Given the description of an element on the screen output the (x, y) to click on. 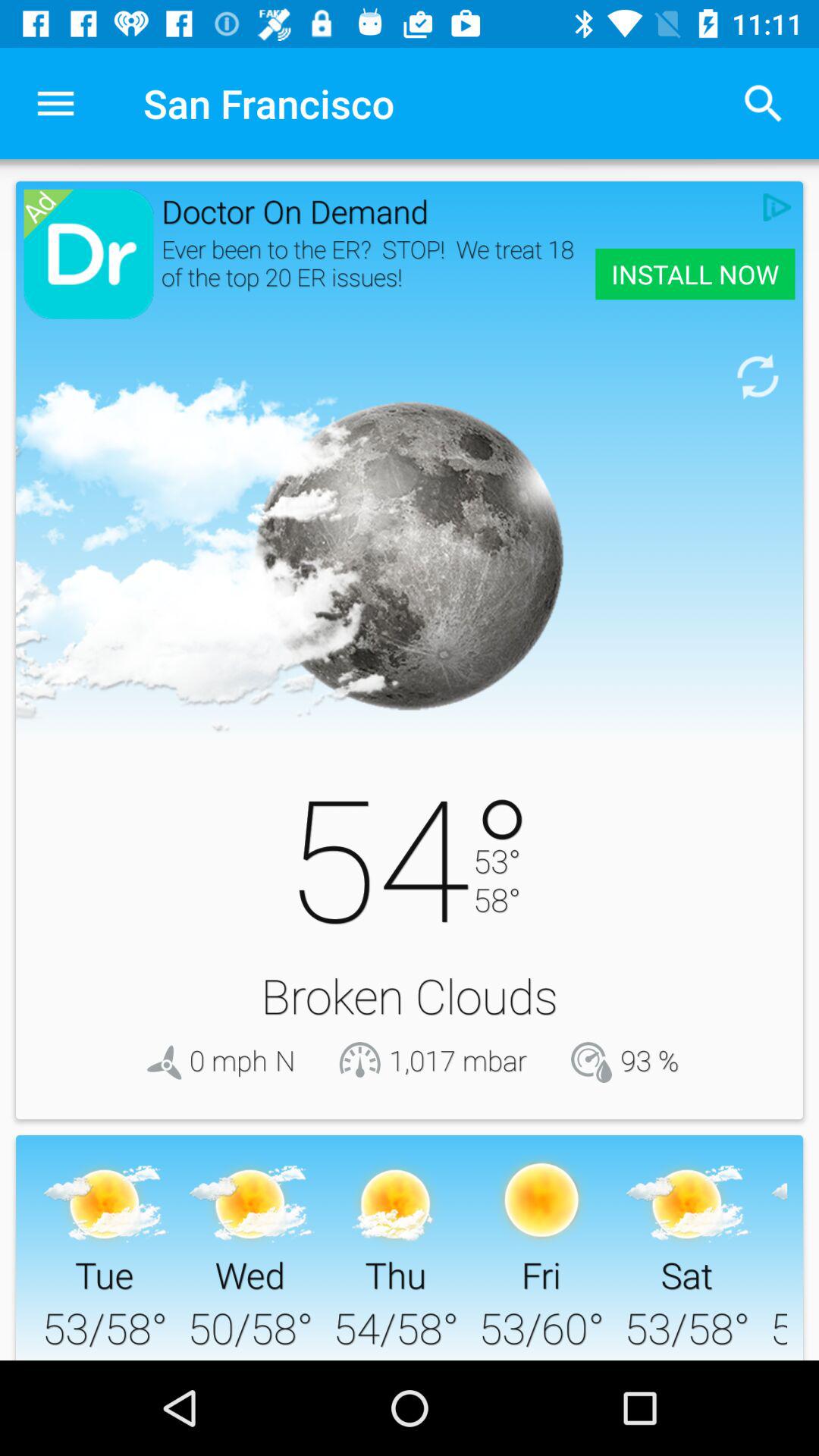
select the broken clouds icon (409, 995)
